Given the description of an element on the screen output the (x, y) to click on. 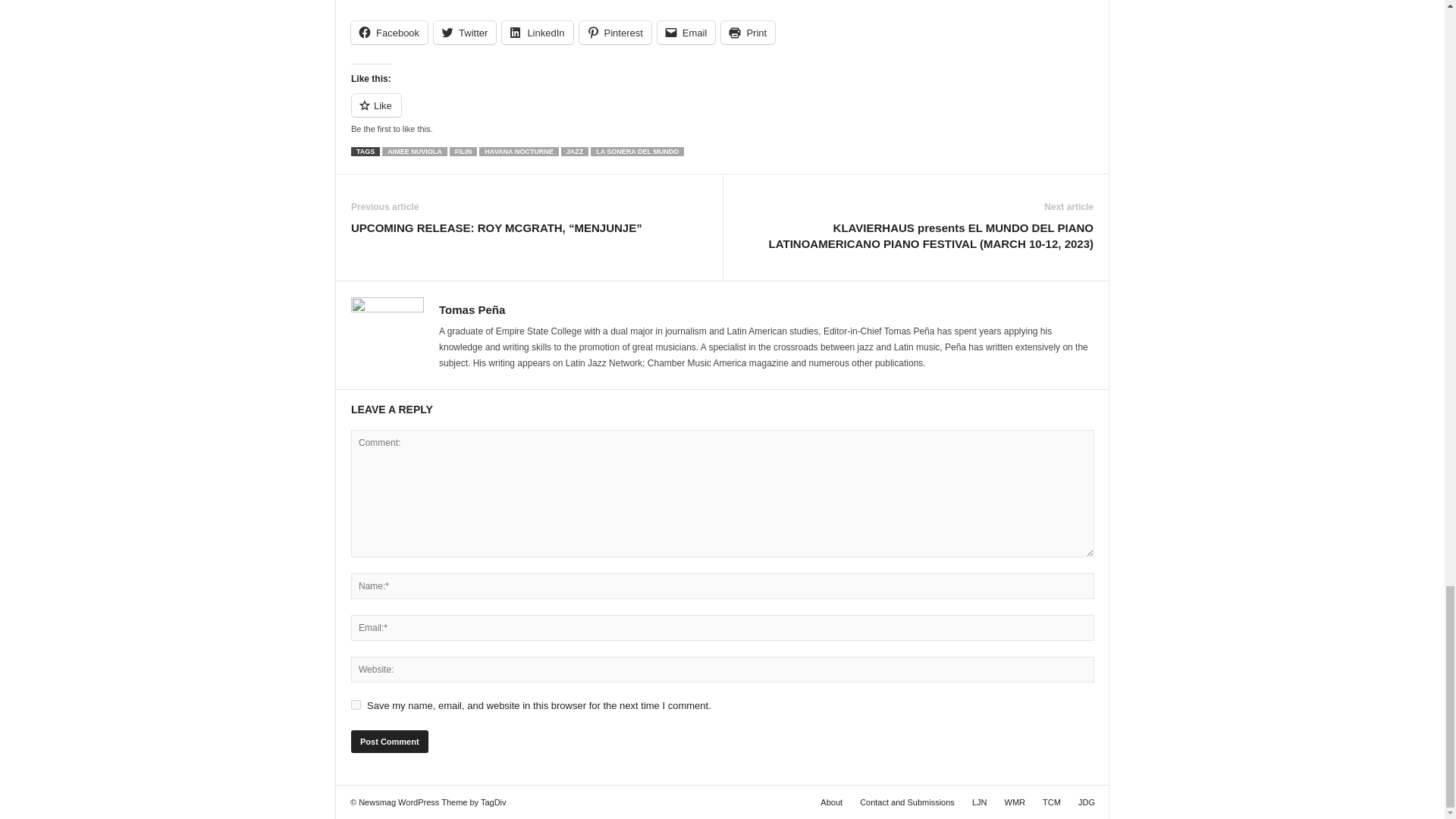
Twitter (464, 32)
LatinJazzNet (978, 801)
Click to share on Twitter (464, 32)
Like or Reblog (722, 114)
WEBSITE (470, 1)
Post Comment (389, 741)
FILIN (463, 151)
Click to print (747, 32)
AIMEE NUVIOLA (413, 151)
Print (747, 32)
HAVANA NOCTURNE (518, 151)
Click to share on Facebook (389, 32)
Pinterest (614, 32)
Click to share on Pinterest (614, 32)
Click to share on LinkedIn (537, 32)
